Given the description of an element on the screen output the (x, y) to click on. 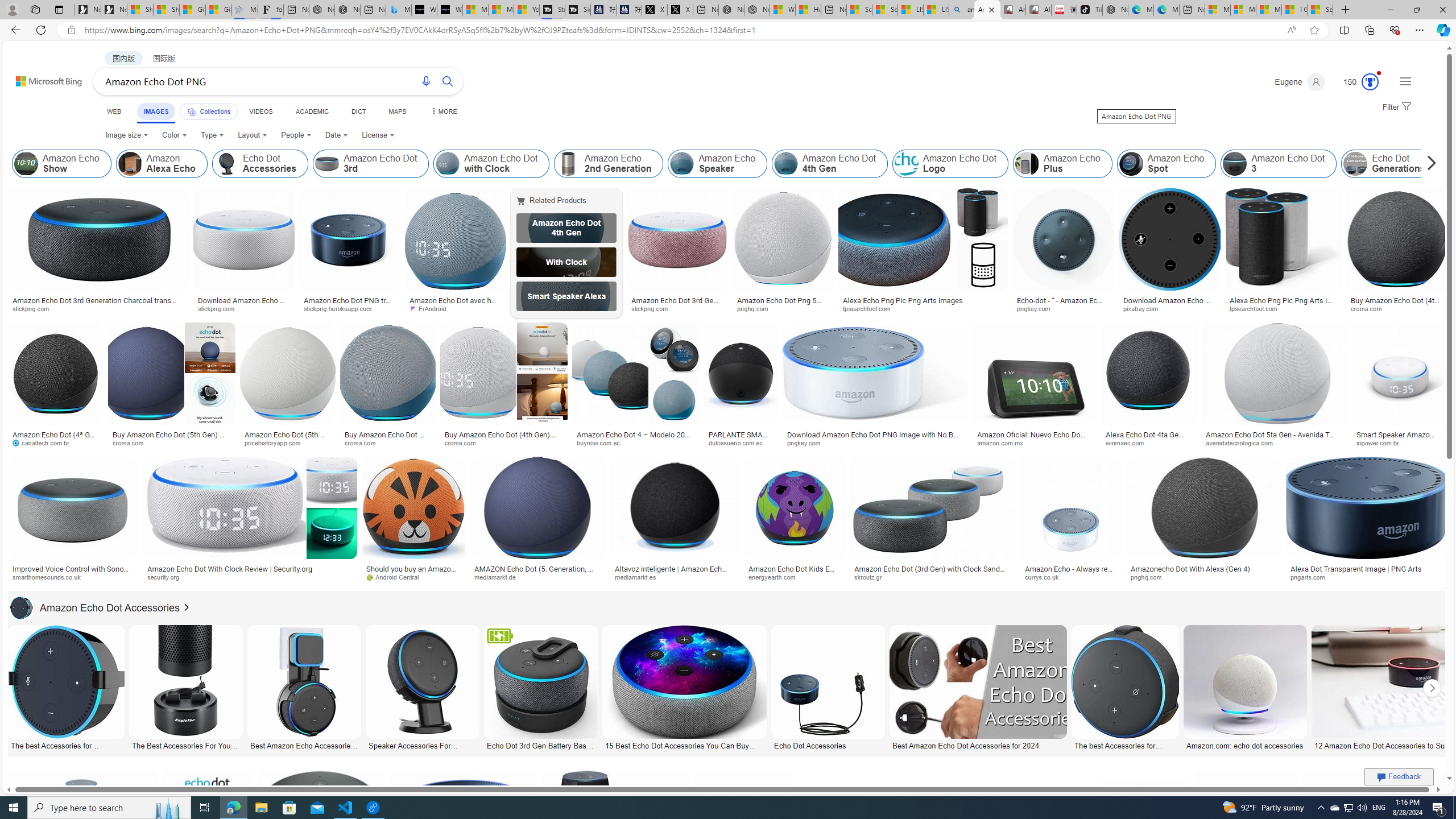
canaltech.com.br (45, 442)
Echo Dot Accessories Echo Dot Accessories (828, 687)
inpower.com.br (1399, 442)
VIDEOS (260, 111)
DICT (357, 111)
Amazon Alexa Echo (161, 163)
skroutz.gr (871, 576)
Eugene (1299, 81)
TikTok (1089, 9)
FrAndroid (431, 308)
Amazon Echo Dot with Clock (490, 163)
